Given the description of an element on the screen output the (x, y) to click on. 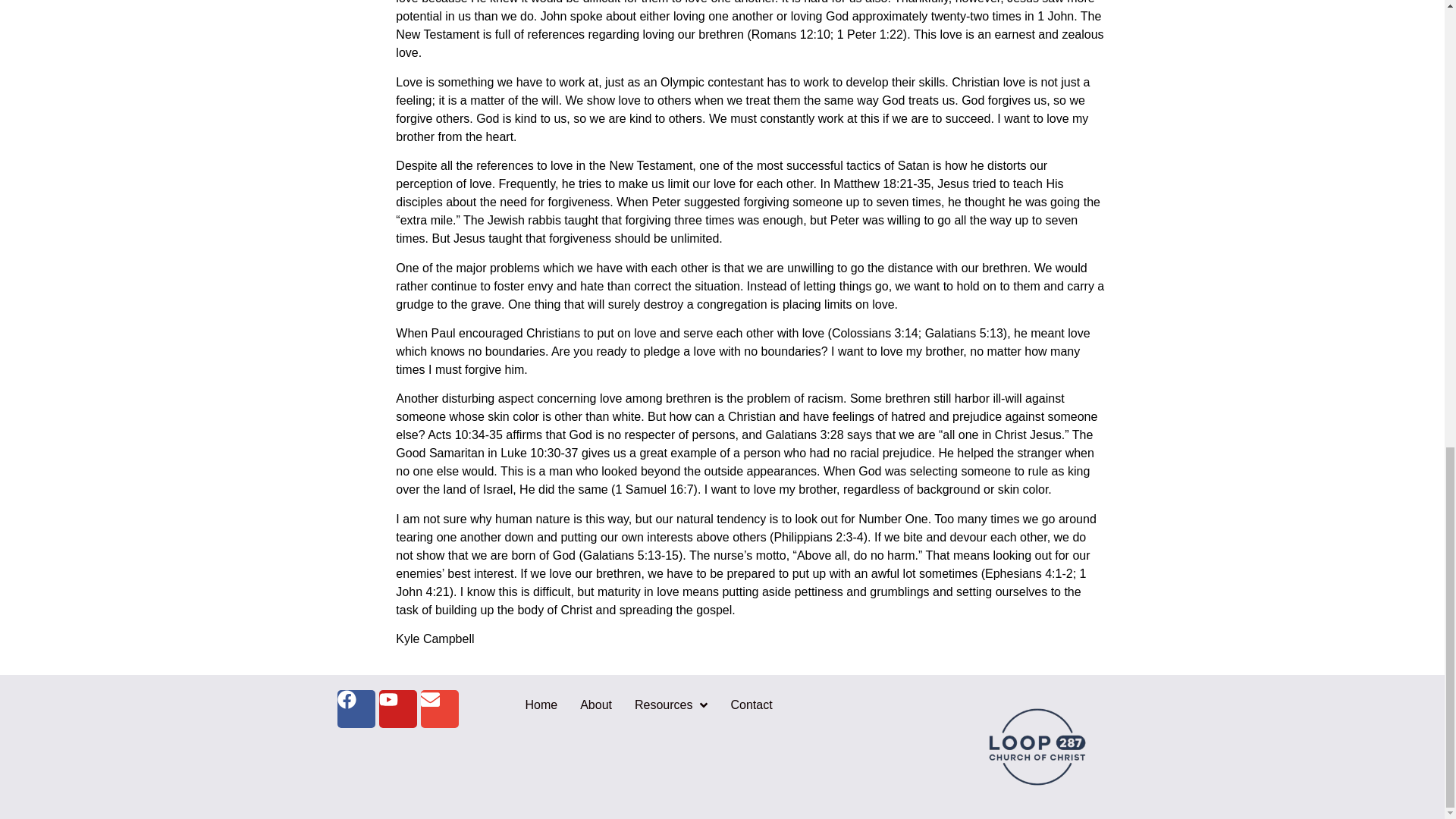
Home (541, 704)
Contact (751, 704)
Resources (671, 704)
About (596, 704)
